Given the description of an element on the screen output the (x, y) to click on. 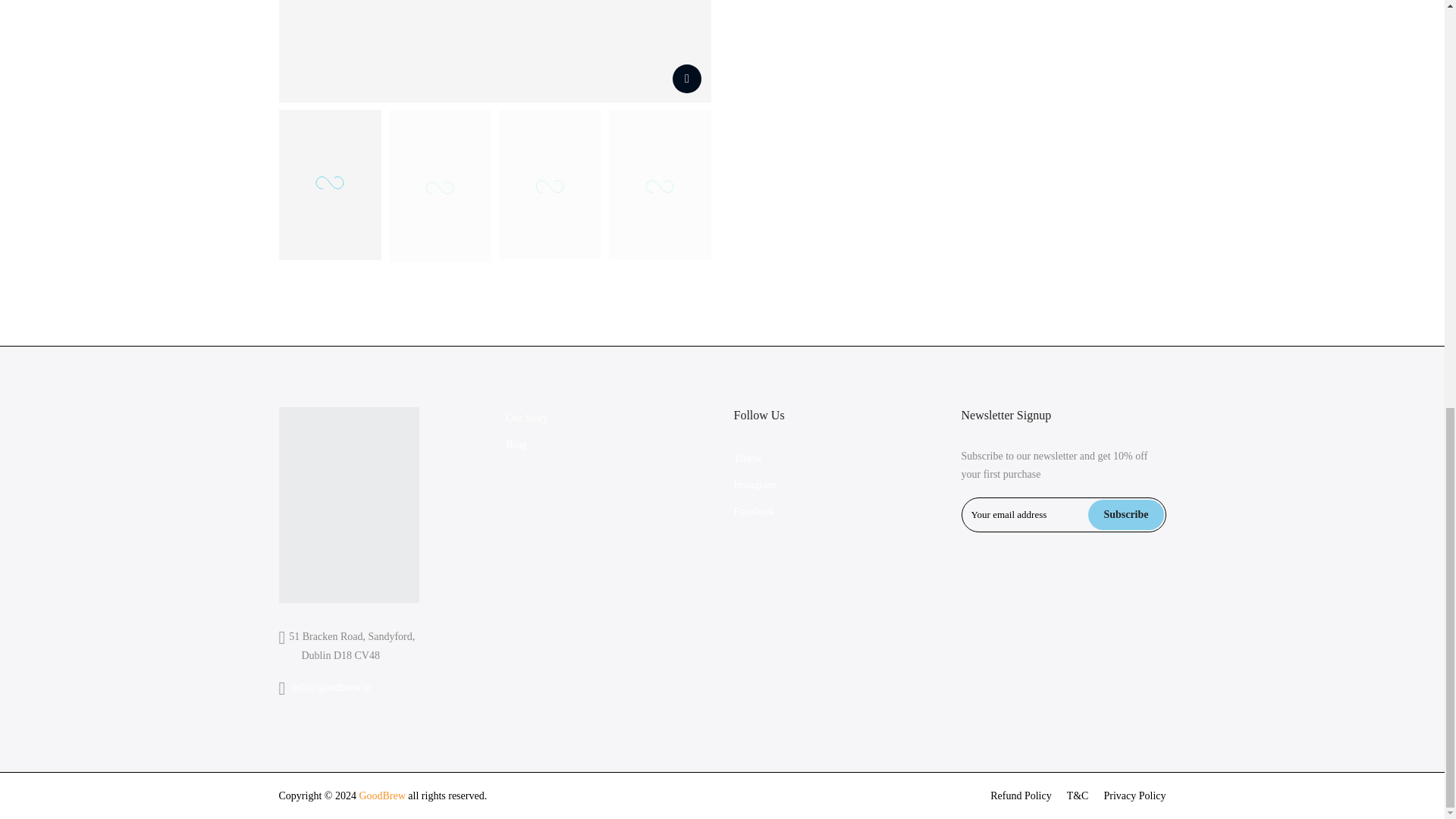
Tiktok (747, 458)
Blog (516, 444)
Subscribe (1125, 514)
Privacy Policy (1134, 795)
Instagram (754, 484)
Our Story (527, 418)
Refund Policy (1020, 795)
Facebook (753, 511)
